Given the description of an element on the screen output the (x, y) to click on. 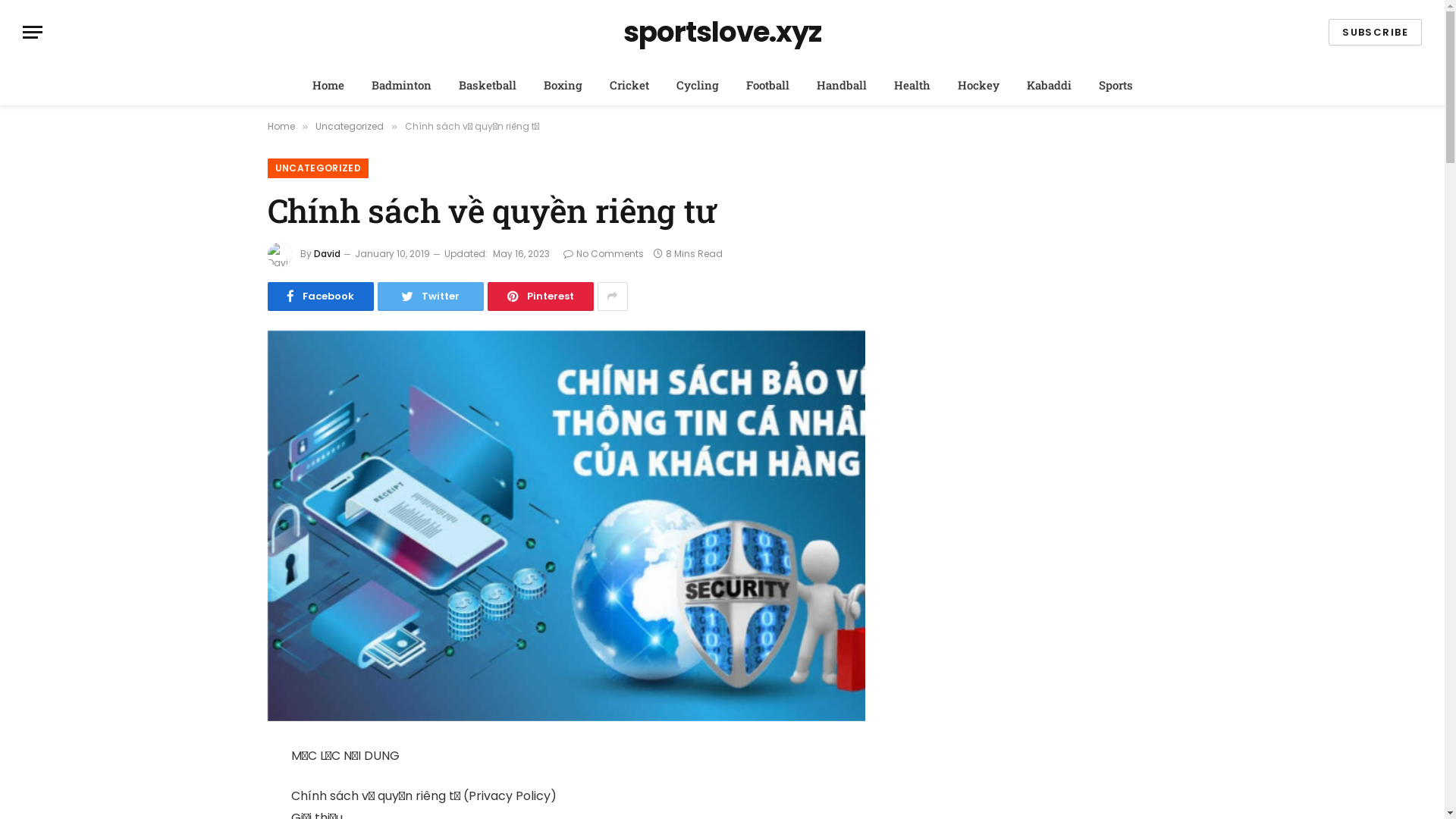
Pinterest Element type: text (539, 296)
No Comments Element type: text (602, 253)
Home Element type: text (280, 125)
Facebook Element type: text (319, 296)
Show More Social Sharing Element type: hover (612, 296)
Badminton Element type: text (401, 84)
Cycling Element type: text (697, 84)
Kabaddi Element type: text (1049, 84)
Home Element type: text (327, 84)
Health Element type: text (911, 84)
Cricket Element type: text (629, 84)
Basketball Element type: text (486, 84)
Boxing Element type: text (562, 84)
David Element type: text (326, 253)
SUBSCRIBE Element type: text (1374, 31)
Uncategorized Element type: text (349, 125)
Handball Element type: text (840, 84)
Twitter Element type: text (430, 296)
Football Element type: text (767, 84)
sportslove.xyz Element type: text (722, 32)
Hockey Element type: text (977, 84)
UNCATEGORIZED Element type: text (317, 168)
Sports Element type: text (1114, 84)
